Given the description of an element on the screen output the (x, y) to click on. 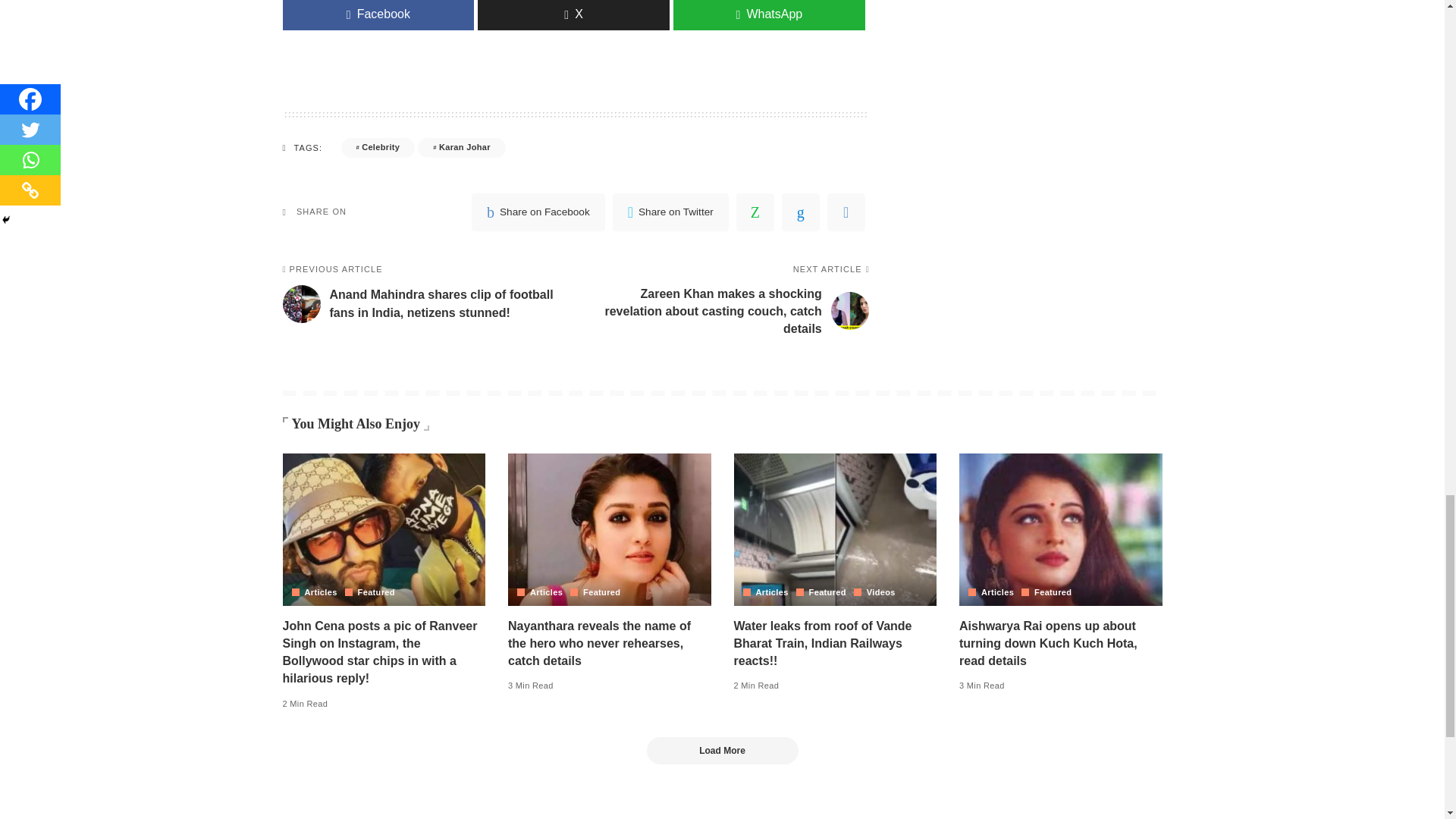
Celebrity (377, 148)
Karan Johar (461, 148)
